Given the description of an element on the screen output the (x, y) to click on. 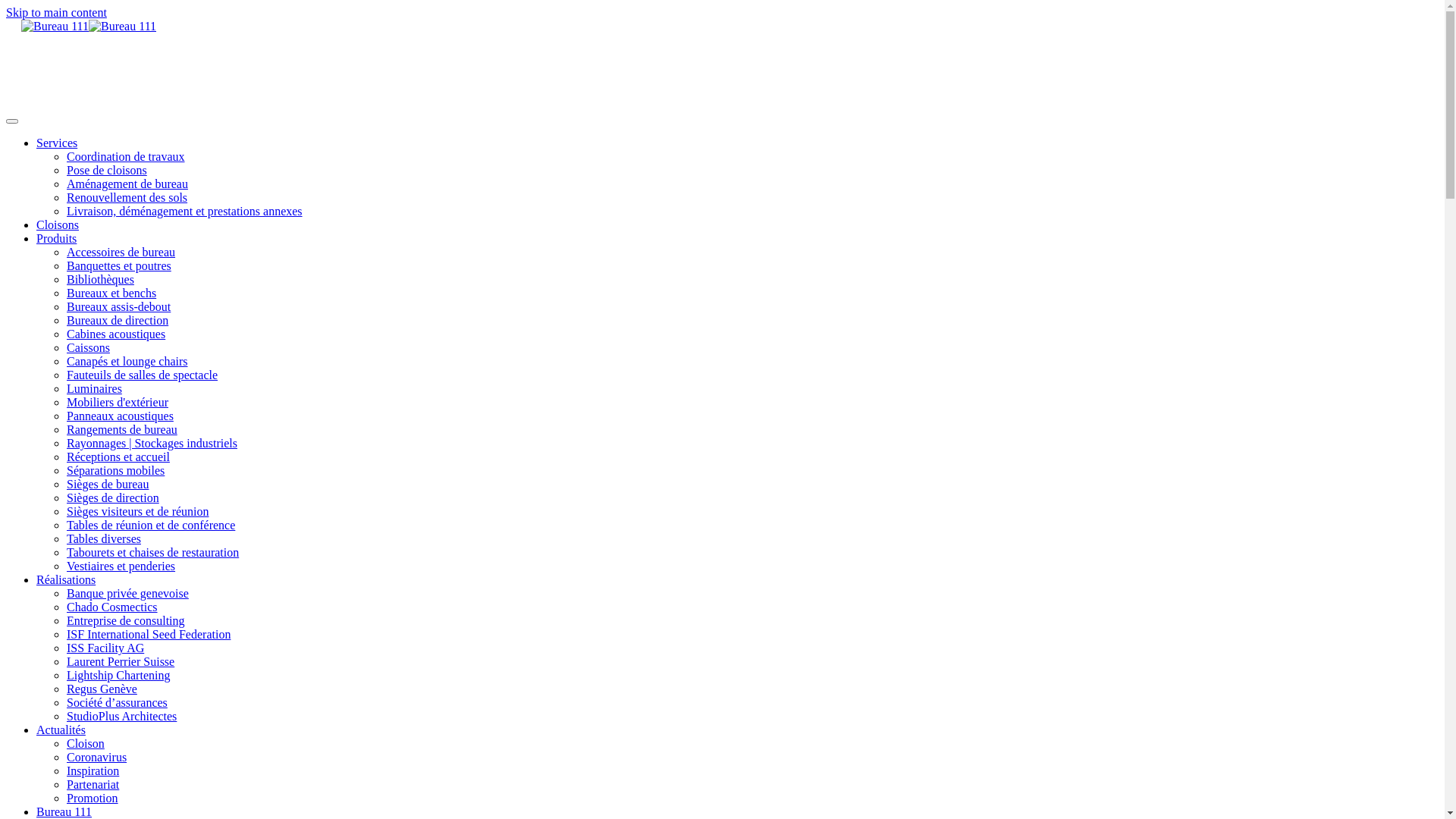
Coordination de travaux Element type: text (125, 156)
Cabines acoustiques Element type: text (115, 333)
Rayonnages | Stockages industriels Element type: text (151, 442)
Services Element type: text (56, 142)
Skip to main content Element type: text (56, 12)
Promotion Element type: text (92, 797)
Caissons Element type: text (87, 347)
ISS Facility AG Element type: text (105, 647)
Cloisons Element type: text (57, 224)
Renouvellement des sols Element type: text (126, 197)
Luminaires Element type: text (94, 388)
Produits Element type: text (56, 238)
Pose de cloisons Element type: text (106, 169)
StudioPlus Architectes Element type: text (121, 715)
Partenariat Element type: text (92, 784)
Panneaux acoustiques Element type: text (119, 415)
Rangements de bureau Element type: text (121, 429)
Vestiaires et penderies Element type: text (120, 565)
Chado Cosmectics Element type: text (111, 606)
Cloison Element type: text (85, 743)
Bureaux assis-debout Element type: text (118, 306)
Bureau 111 Element type: text (63, 811)
Bureaux et benchs Element type: text (111, 292)
Tables diverses Element type: text (103, 538)
Bureaux de direction Element type: text (117, 319)
Banquettes et poutres Element type: text (118, 265)
Fauteuils de salles de spectacle Element type: text (141, 374)
Laurent Perrier Suisse Element type: text (120, 661)
Entreprise de consulting Element type: text (125, 620)
ISF International Seed Federation Element type: text (148, 633)
Coronavirus Element type: text (96, 756)
Lightship Chartening Element type: text (117, 674)
Inspiration Element type: text (92, 770)
Accessoires de bureau Element type: text (120, 251)
Tabourets et chaises de restauration Element type: text (152, 552)
